Given the description of an element on the screen output the (x, y) to click on. 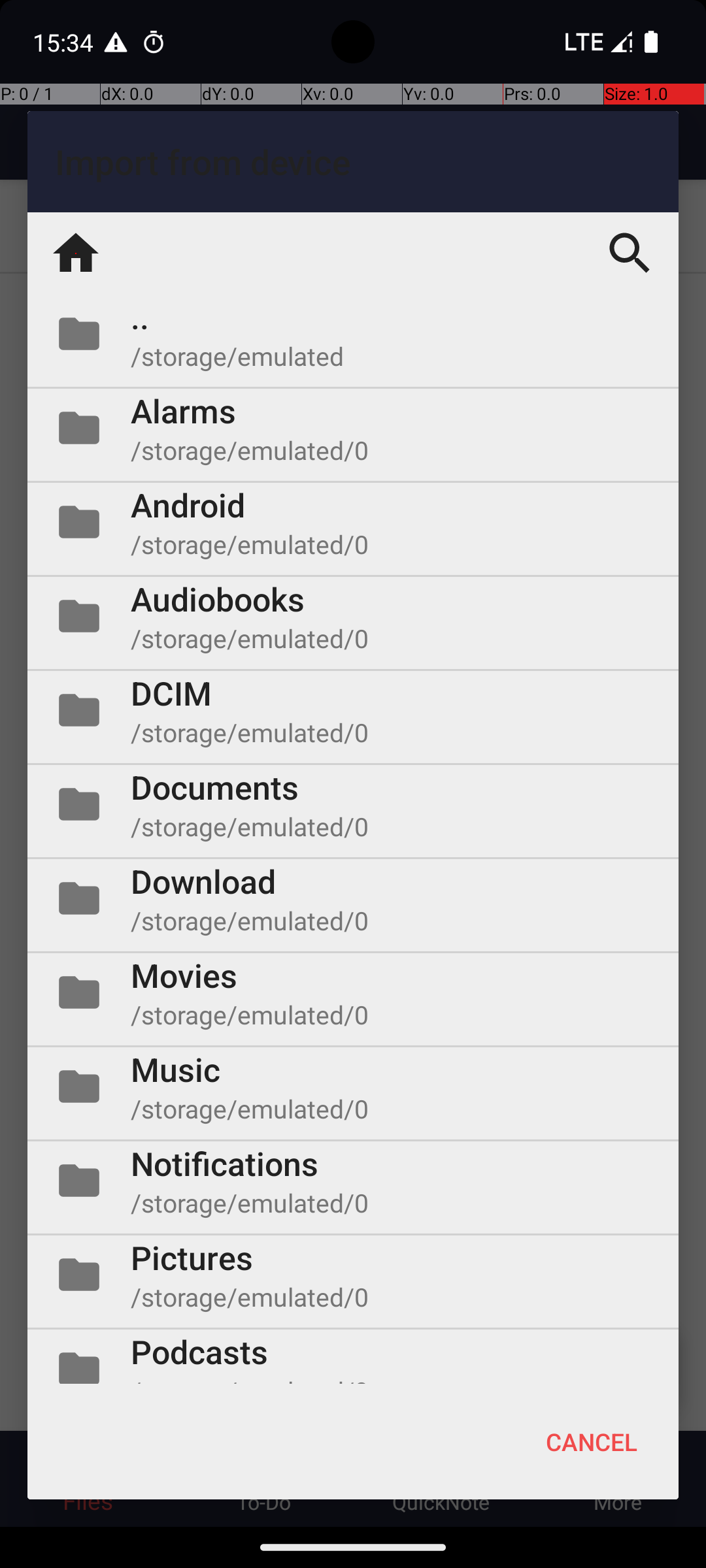
Import from device Element type: android.widget.TextView (352, 161)
Folder .. /storage/emulated/0 Element type: android.widget.LinearLayout (352, 333)
Folder Alarms /storage/emulated/0/Android Element type: android.widget.LinearLayout (352, 427)
Folder Android /storage/emulated/0/Android Element type: android.widget.LinearLayout (352, 521)
Folder Audiobooks /storage/emulated/0/Android Element type: android.widget.LinearLayout (352, 615)
Folder DCIM /storage/emulated/0 Element type: android.widget.LinearLayout (352, 709)
Folder Documents  Element type: android.widget.LinearLayout (352, 804)
Folder Download  Element type: android.widget.LinearLayout (352, 898)
Folder Movies  Element type: android.widget.LinearLayout (352, 992)
Folder Music  Element type: android.widget.LinearLayout (352, 1086)
Folder Notifications  Element type: android.widget.LinearLayout (352, 1180)
Folder Pictures  Element type: android.widget.LinearLayout (352, 1274)
Folder Podcasts  Element type: android.widget.LinearLayout (352, 1356)
